Given the description of an element on the screen output the (x, y) to click on. 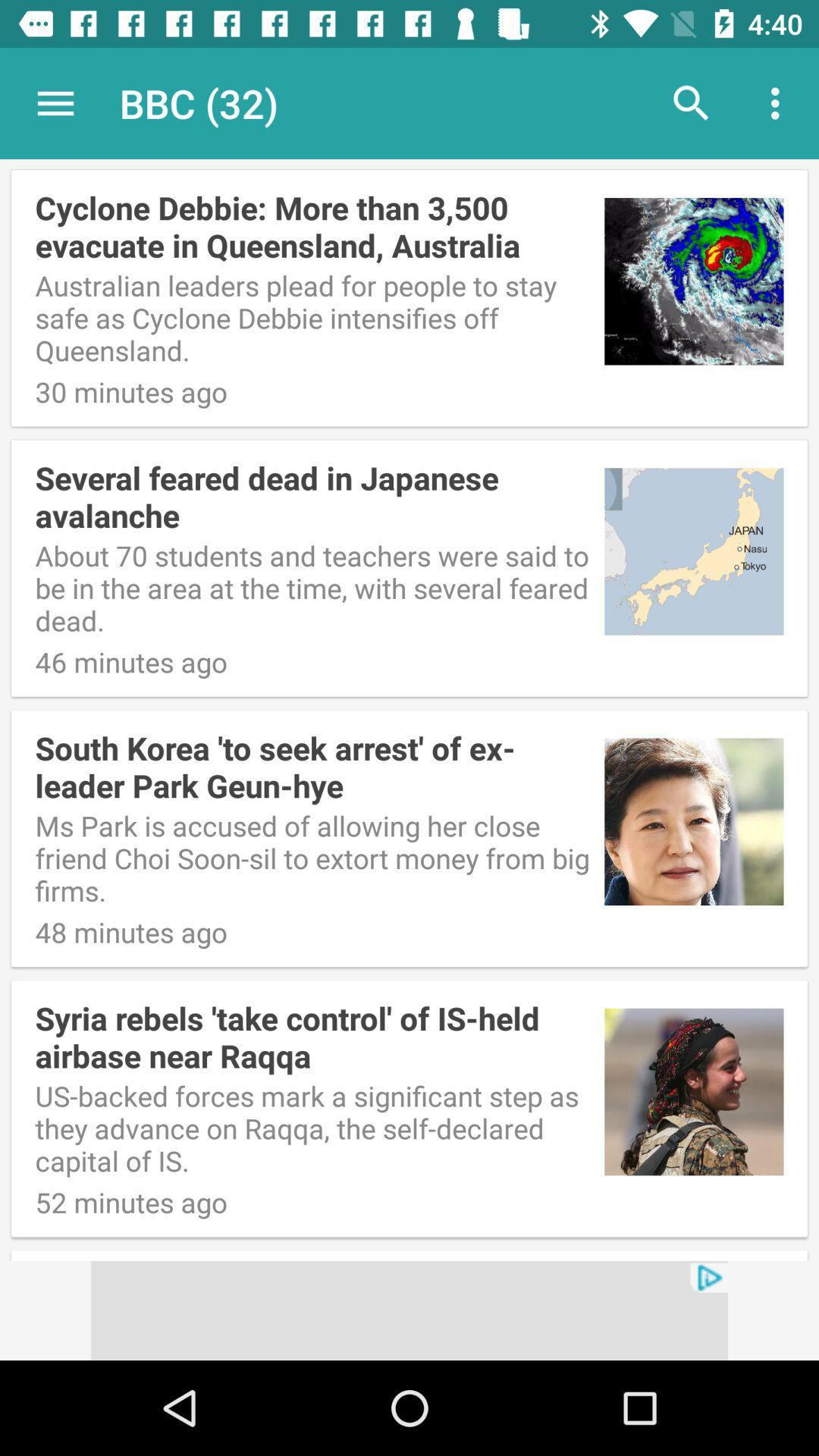
select the item to the left of bbc (32) app (55, 103)
